Given the description of an element on the screen output the (x, y) to click on. 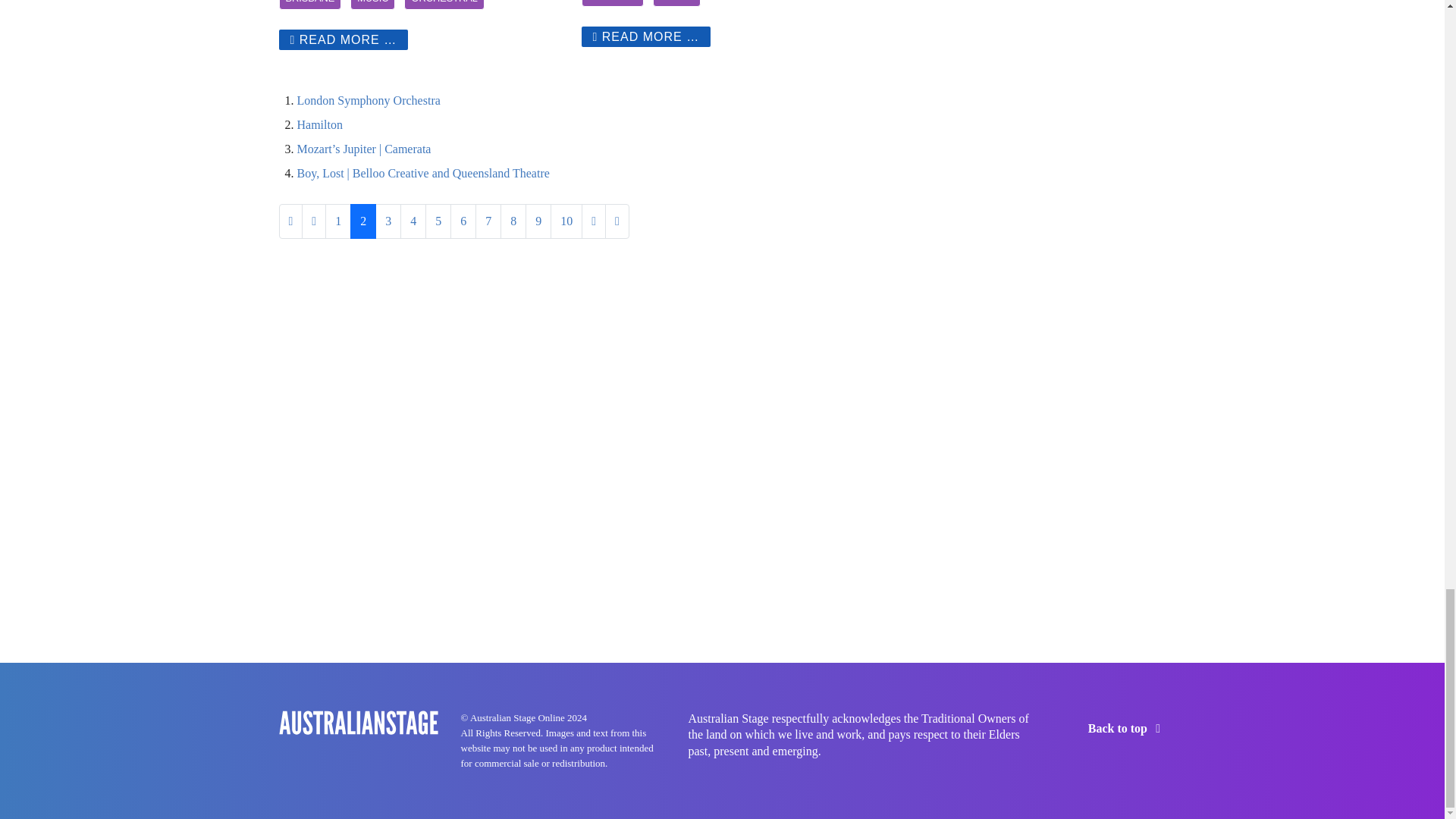
Back to top (1126, 727)
